Given the description of an element on the screen output the (x, y) to click on. 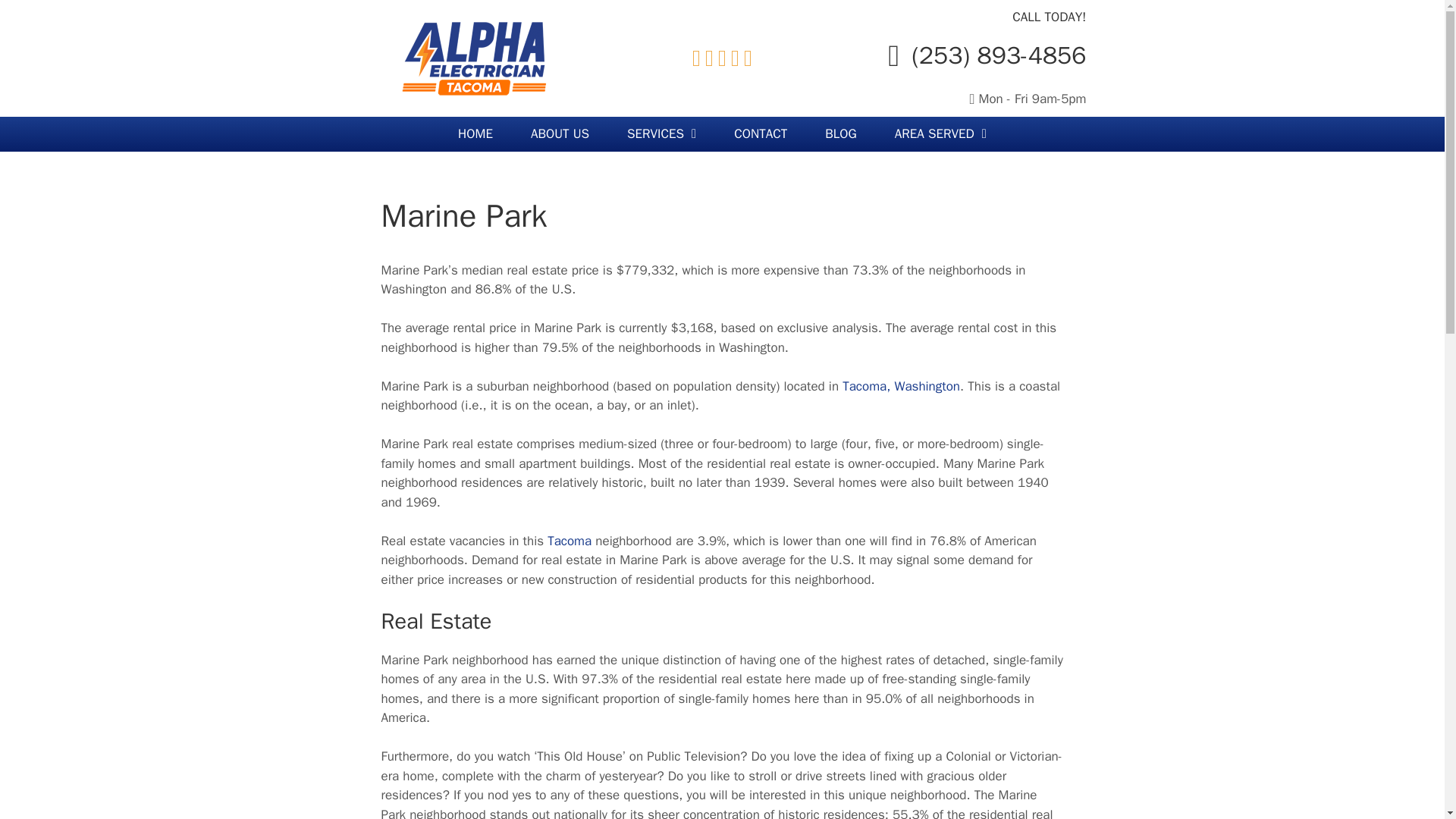
CONTACT (760, 134)
ABOUT US (560, 134)
BLOG (840, 134)
AREA SERVED (941, 134)
HOME (475, 134)
SERVICES (661, 134)
